Given the description of an element on the screen output the (x, y) to click on. 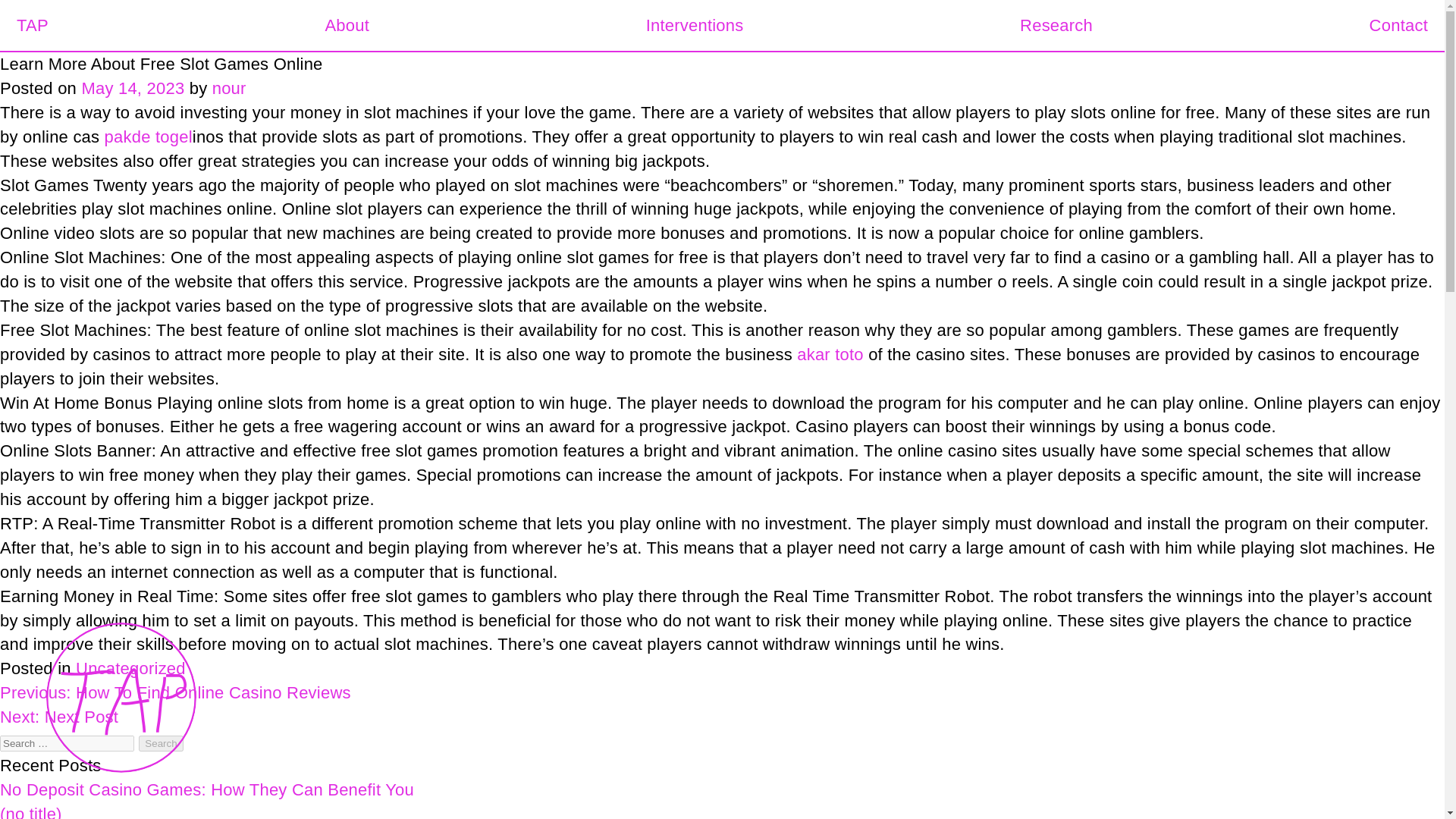
Search (160, 743)
May 14, 2023 (132, 87)
No Deposit Casino Games: How They Can Benefit You (206, 789)
nour (229, 87)
Previous: How To Find Online Casino Reviews (175, 692)
About (346, 25)
pakde togel (148, 136)
Search (160, 743)
Research (1056, 25)
akar toto (829, 353)
Contact (1399, 25)
TAP (32, 25)
Search (160, 743)
Next: Next Post (58, 716)
Interventions (695, 25)
